Given the description of an element on the screen output the (x, y) to click on. 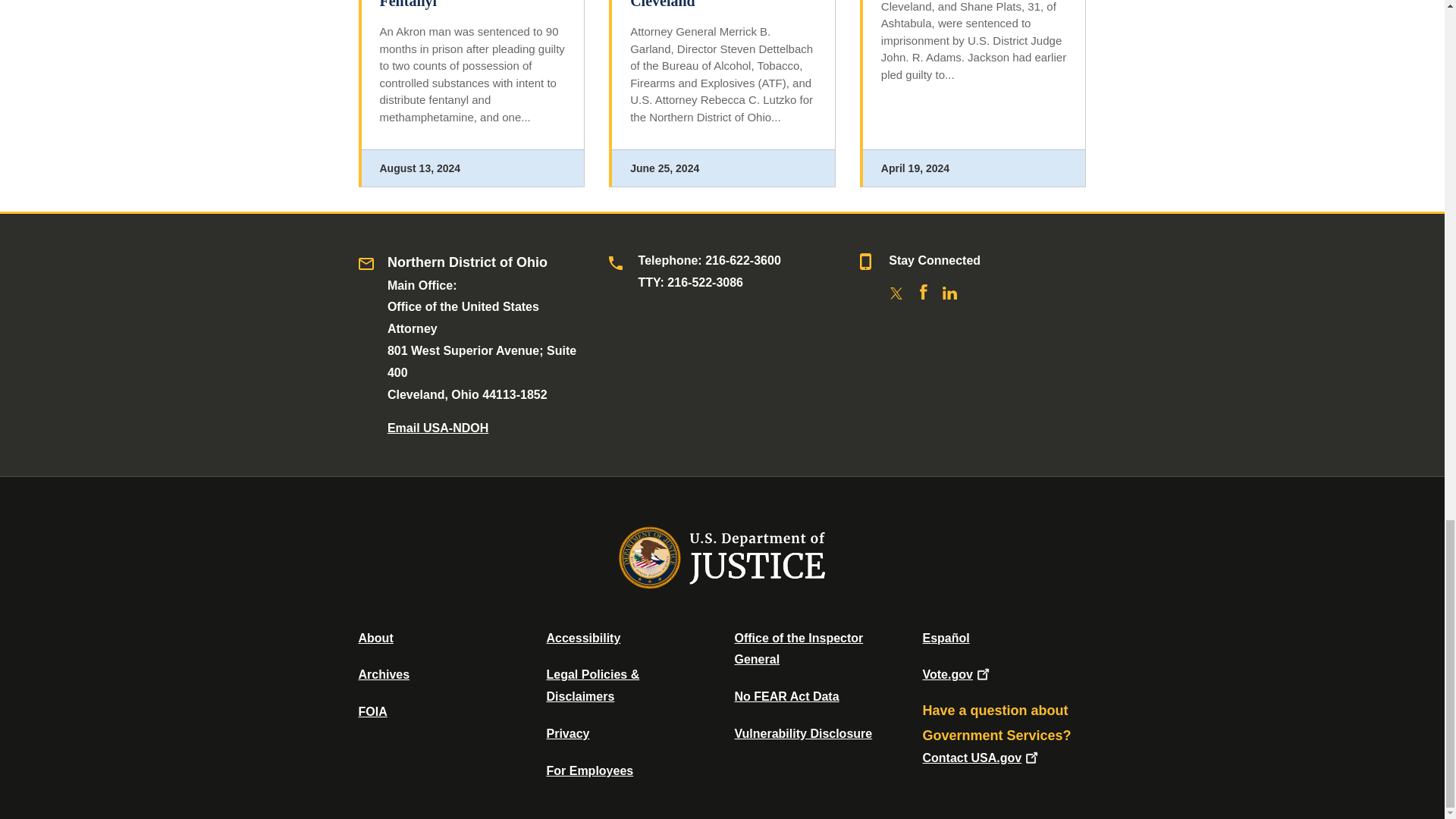
Department of Justice Archive (383, 674)
Legal Policies and Disclaimers (592, 685)
About DOJ (375, 637)
Data Posted Pursuant To The No Fear Act (785, 696)
Office of Information Policy (372, 711)
For Employees (589, 770)
Accessibility Statement (583, 637)
